Given the description of an element on the screen output the (x, y) to click on. 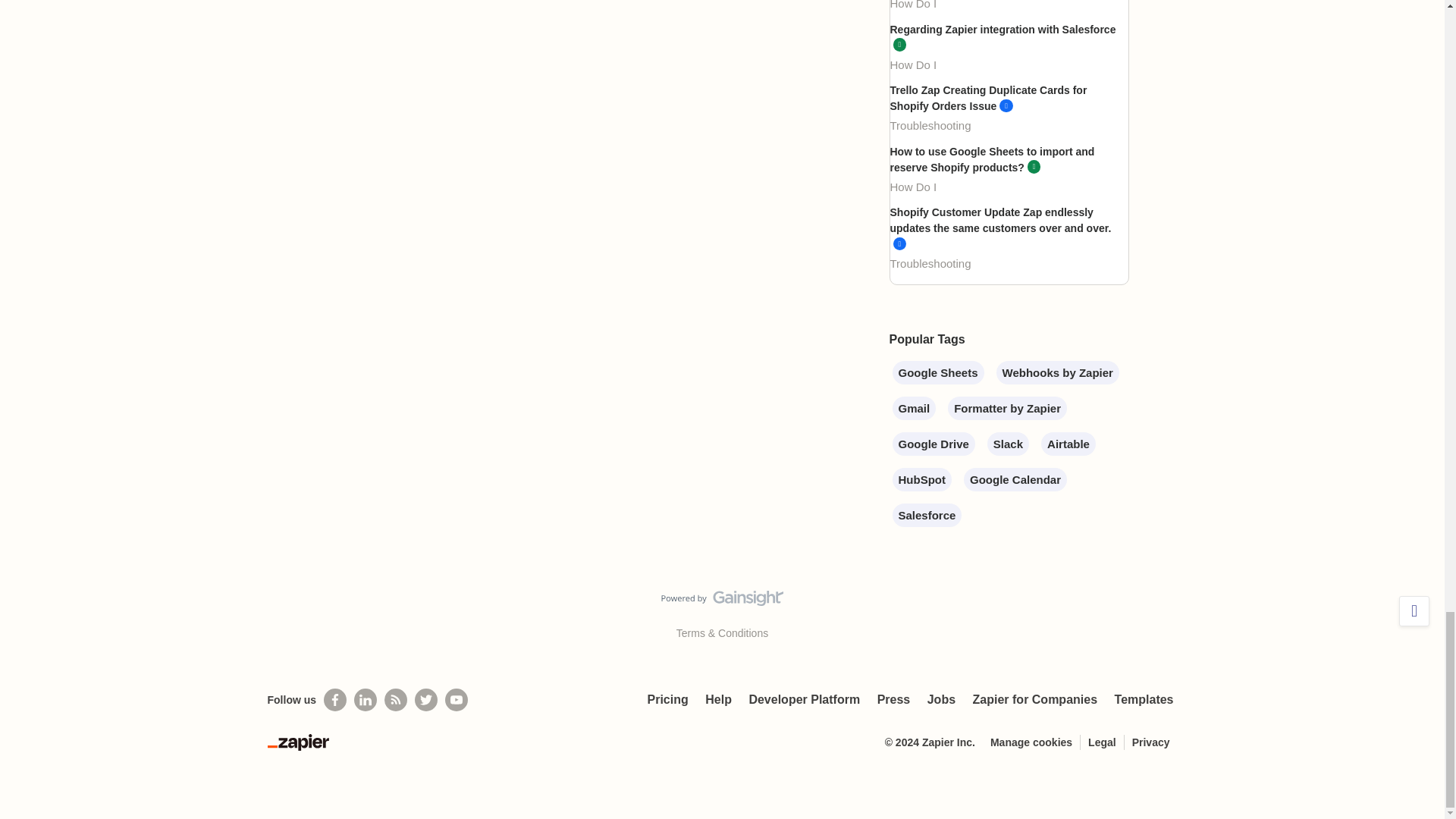
Subscribe to our blog (395, 699)
Visit Gainsight.com (722, 601)
Follow us on LinkedIn (365, 699)
Follow us on Facebook (334, 699)
Back to top (1414, 611)
